Given the description of an element on the screen output the (x, y) to click on. 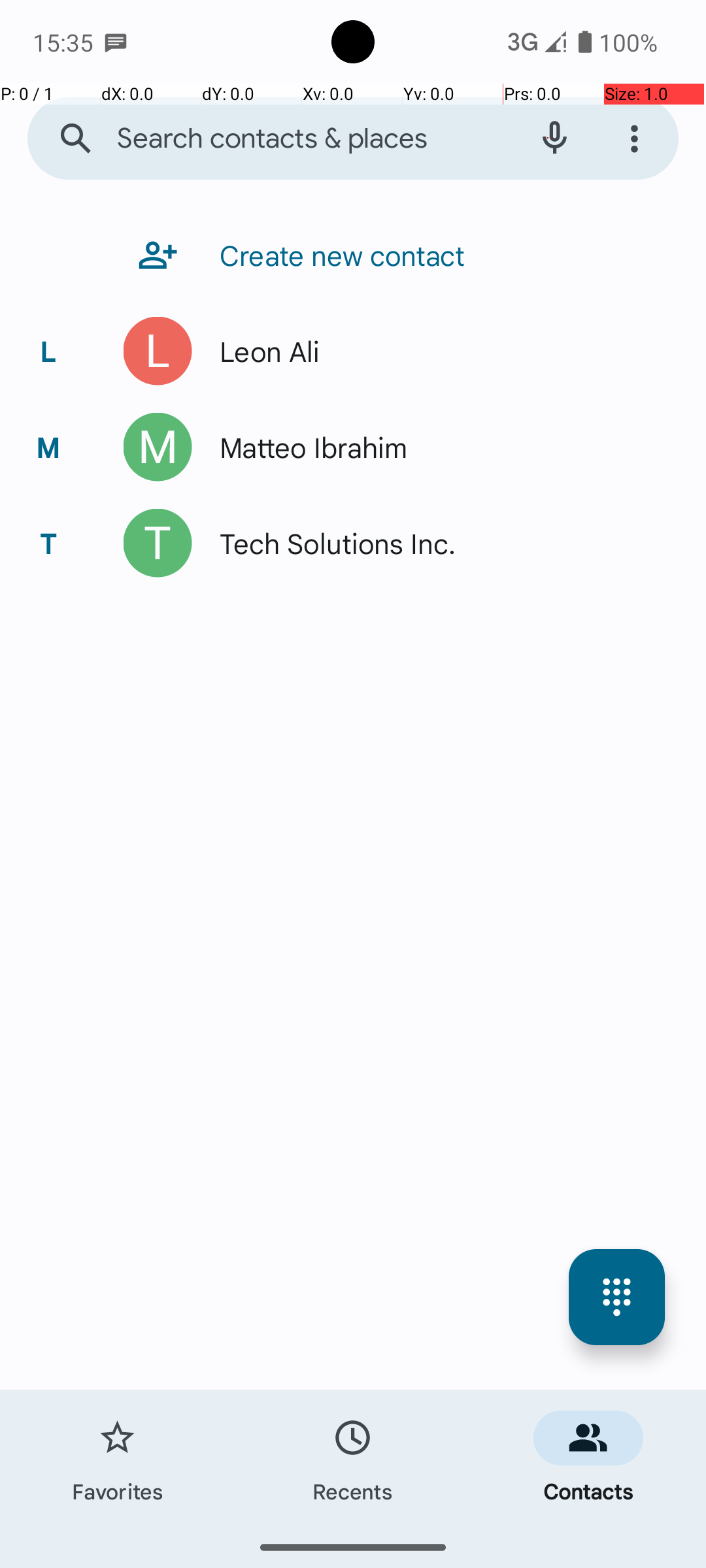
key pad Element type: android.widget.ImageButton (616, 1297)
Recents Element type: android.widget.FrameLayout (352, 1457)
Start voice search Element type: android.widget.Button (554, 138)
Create new contact Element type: android.widget.TextView (335, 254)
Quick contact for Leon Ali Element type: android.widget.QuickContactBadge (157, 350)
Leon Ali Element type: android.widget.TextView (263, 350)
Quick contact for Matteo Ibrahim Element type: android.widget.QuickContactBadge (157, 446)
Matteo Ibrahim Element type: android.widget.TextView (306, 446)
Quick contact for Tech Solutions Inc. Element type: android.widget.QuickContactBadge (157, 542)
Tech Solutions Inc. Element type: android.widget.TextView (331, 542)
